Given the description of an element on the screen output the (x, y) to click on. 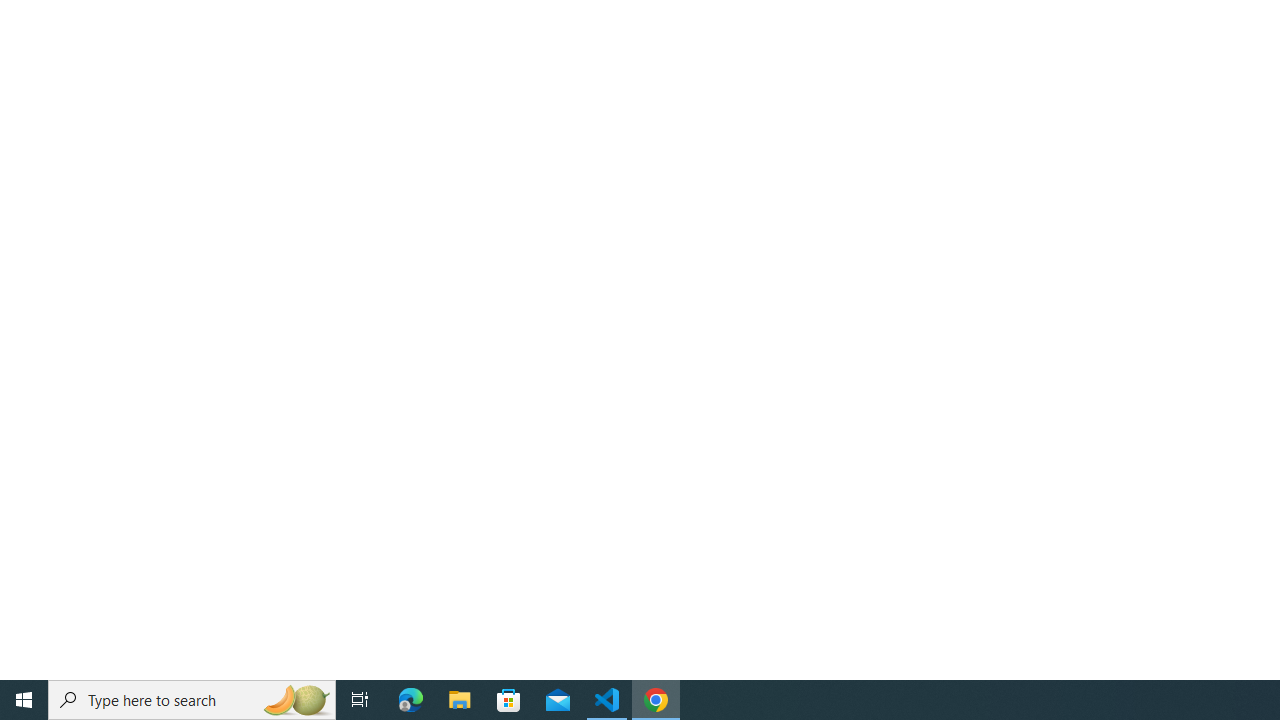
Google Chrome - 1 running window (656, 699)
Search highlights icon opens search home window (295, 699)
Visual Studio Code - 1 running window (607, 699)
File Explorer (460, 699)
Type here to search (191, 699)
Start (24, 699)
Microsoft Store (509, 699)
Microsoft Edge (411, 699)
Task View (359, 699)
